Given the description of an element on the screen output the (x, y) to click on. 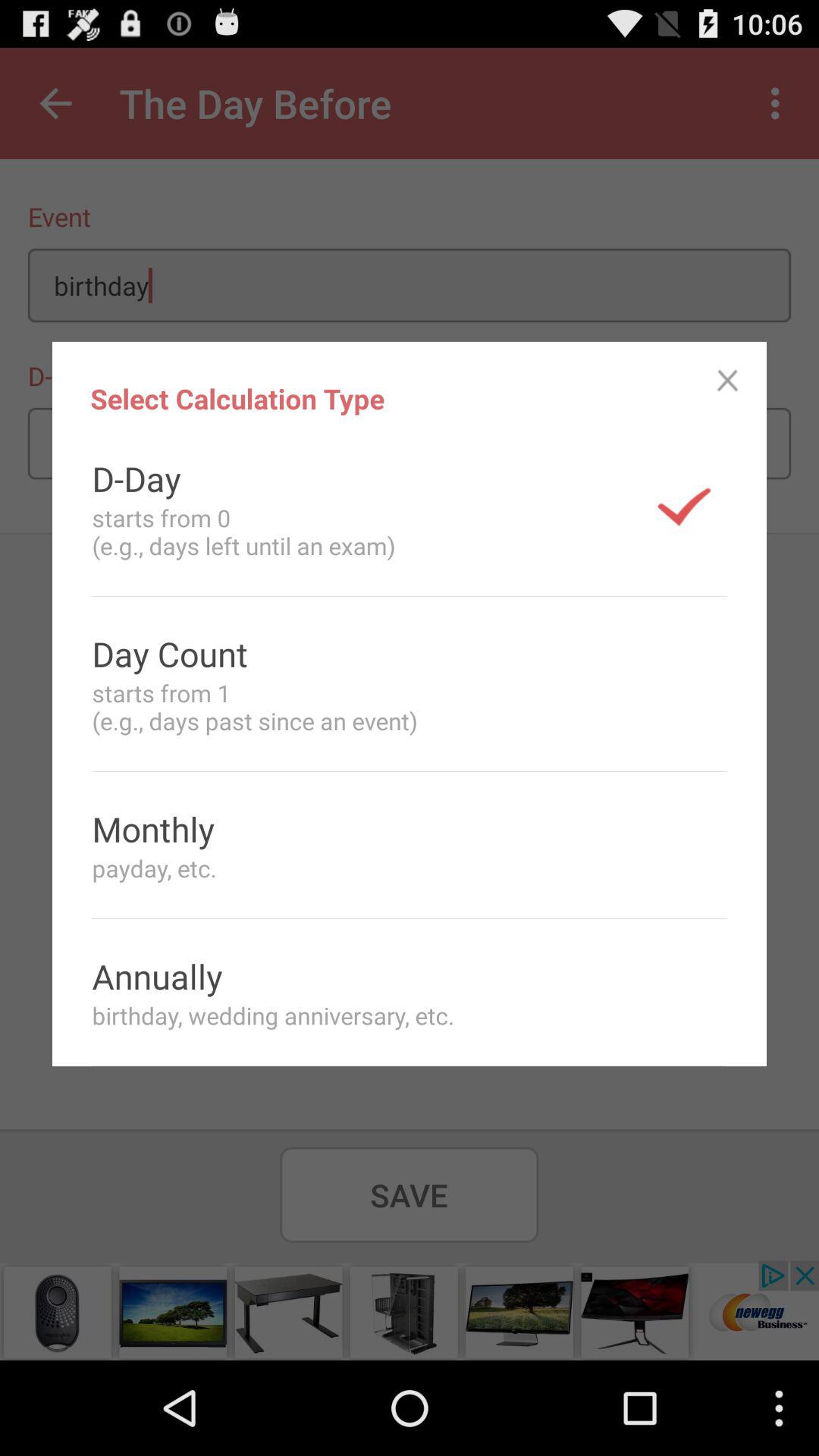
click the icon to the right of select calculation type item (727, 380)
